Given the description of an element on the screen output the (x, y) to click on. 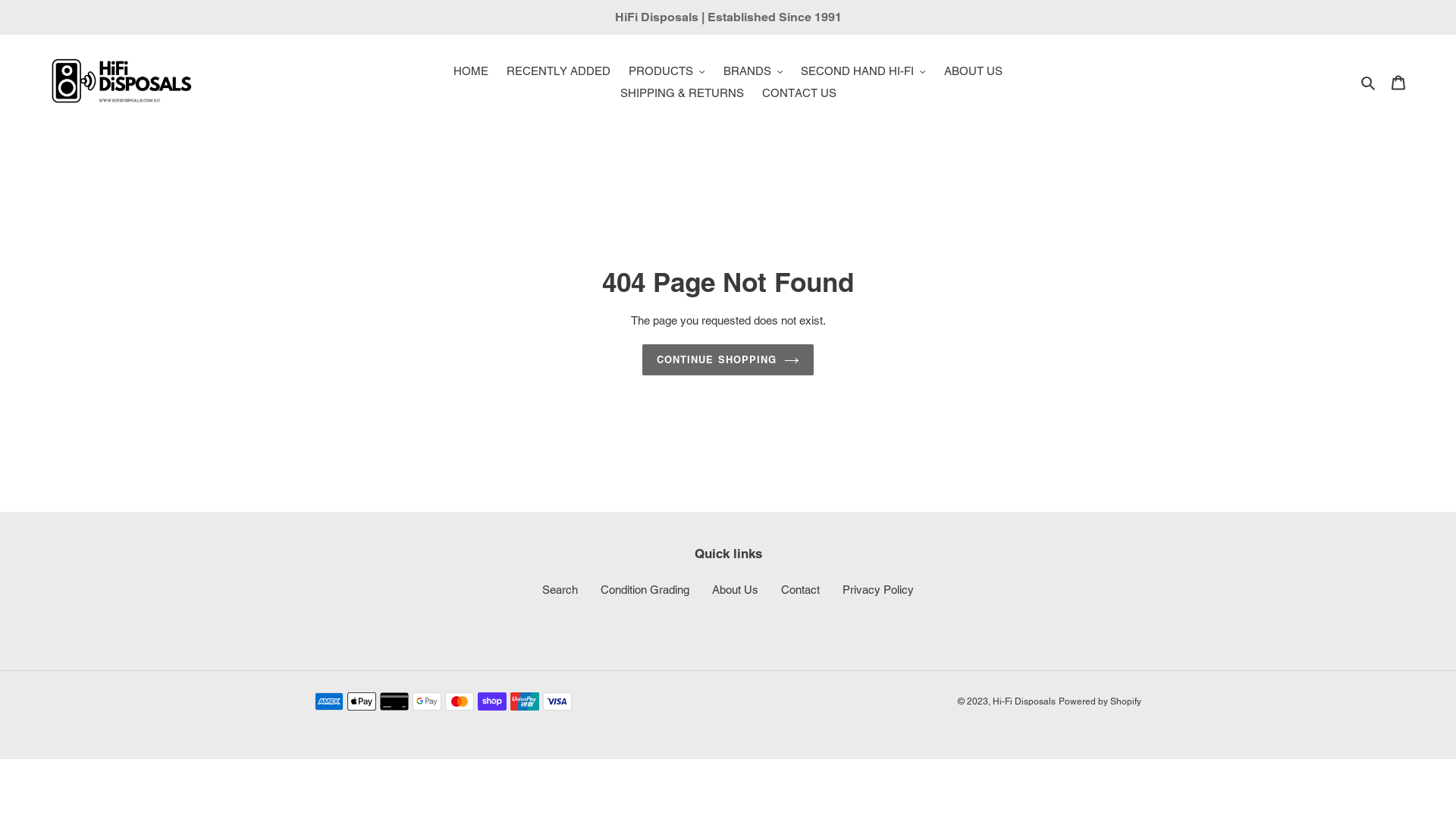
BRANDS Element type: text (752, 71)
CONTACT US Element type: text (798, 93)
Privacy Policy Element type: text (877, 589)
HOME Element type: text (470, 71)
Search Element type: text (559, 589)
CONTINUE SHOPPING Element type: text (727, 360)
PRODUCTS Element type: text (666, 71)
SECOND HAND HI-FI Element type: text (863, 71)
Condition Grading Element type: text (644, 589)
ABOUT US Element type: text (973, 71)
Contact Element type: text (800, 589)
Search Element type: text (1368, 81)
Hi-Fi Disposals Element type: text (1023, 701)
Powered by Shopify Element type: text (1099, 701)
SHIPPING & RETURNS Element type: text (681, 93)
About Us Element type: text (735, 589)
Cart Element type: text (1398, 81)
RECENTLY ADDED Element type: text (558, 71)
